Given the description of an element on the screen output the (x, y) to click on. 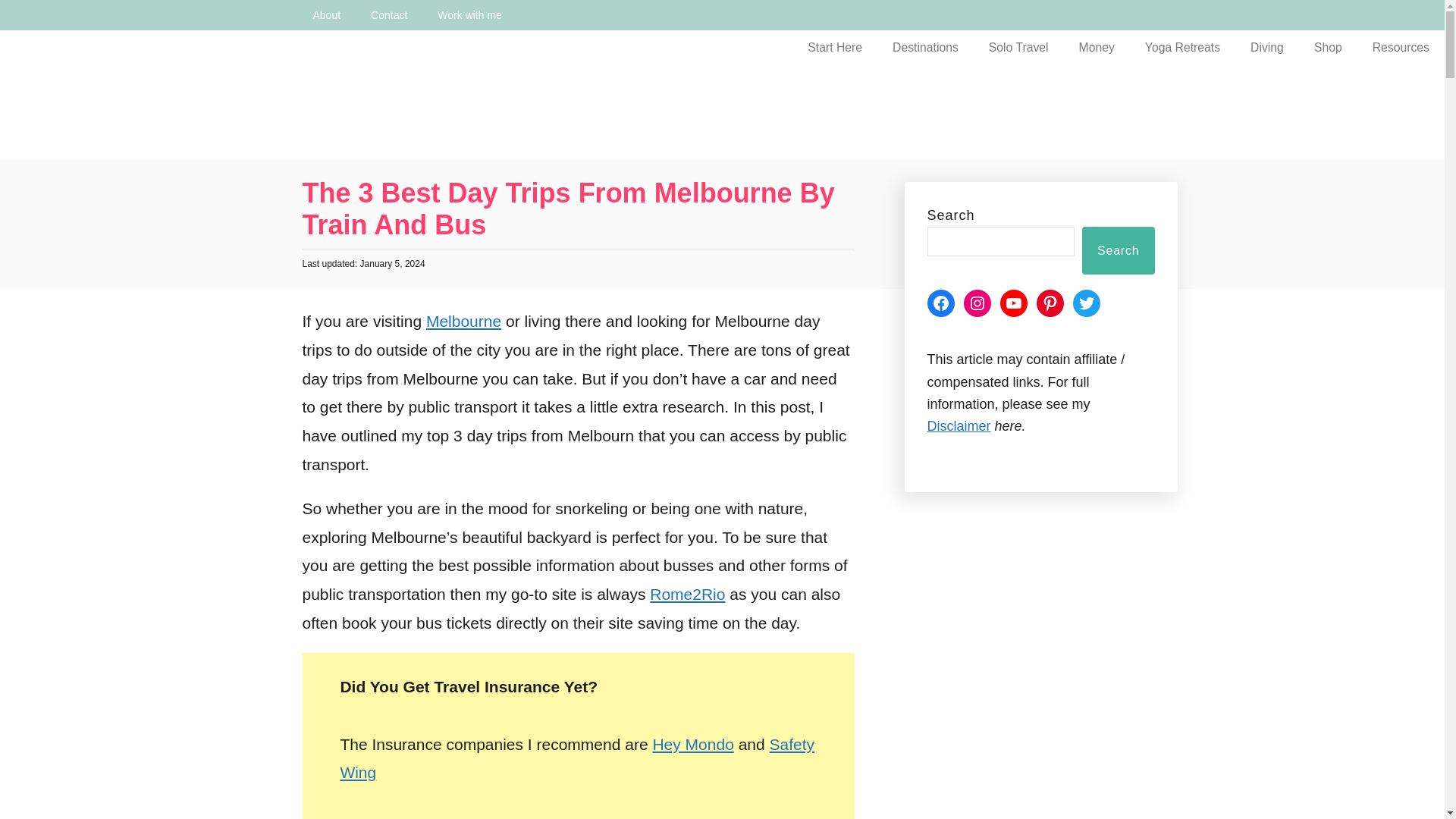
Work with me (469, 14)
Start Here (834, 47)
About (326, 14)
Destinations (925, 47)
Contact (388, 14)
